Given the description of an element on the screen output the (x, y) to click on. 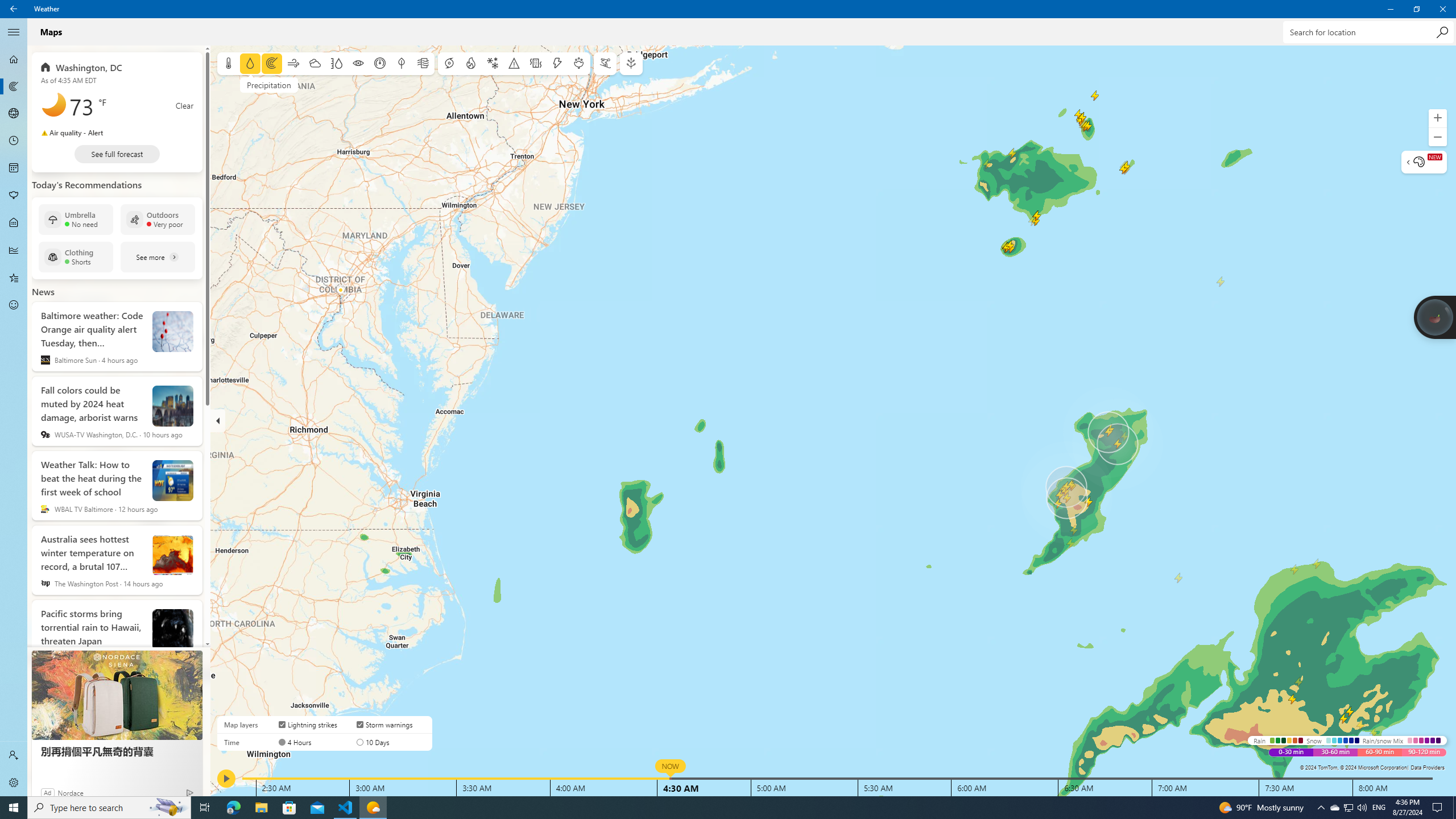
3D Maps - Not Selected (13, 113)
3D Maps - Not Selected (13, 113)
Collapse Navigation (13, 31)
Hourly Forecast - Not Selected (13, 140)
